Given the description of an element on the screen output the (x, y) to click on. 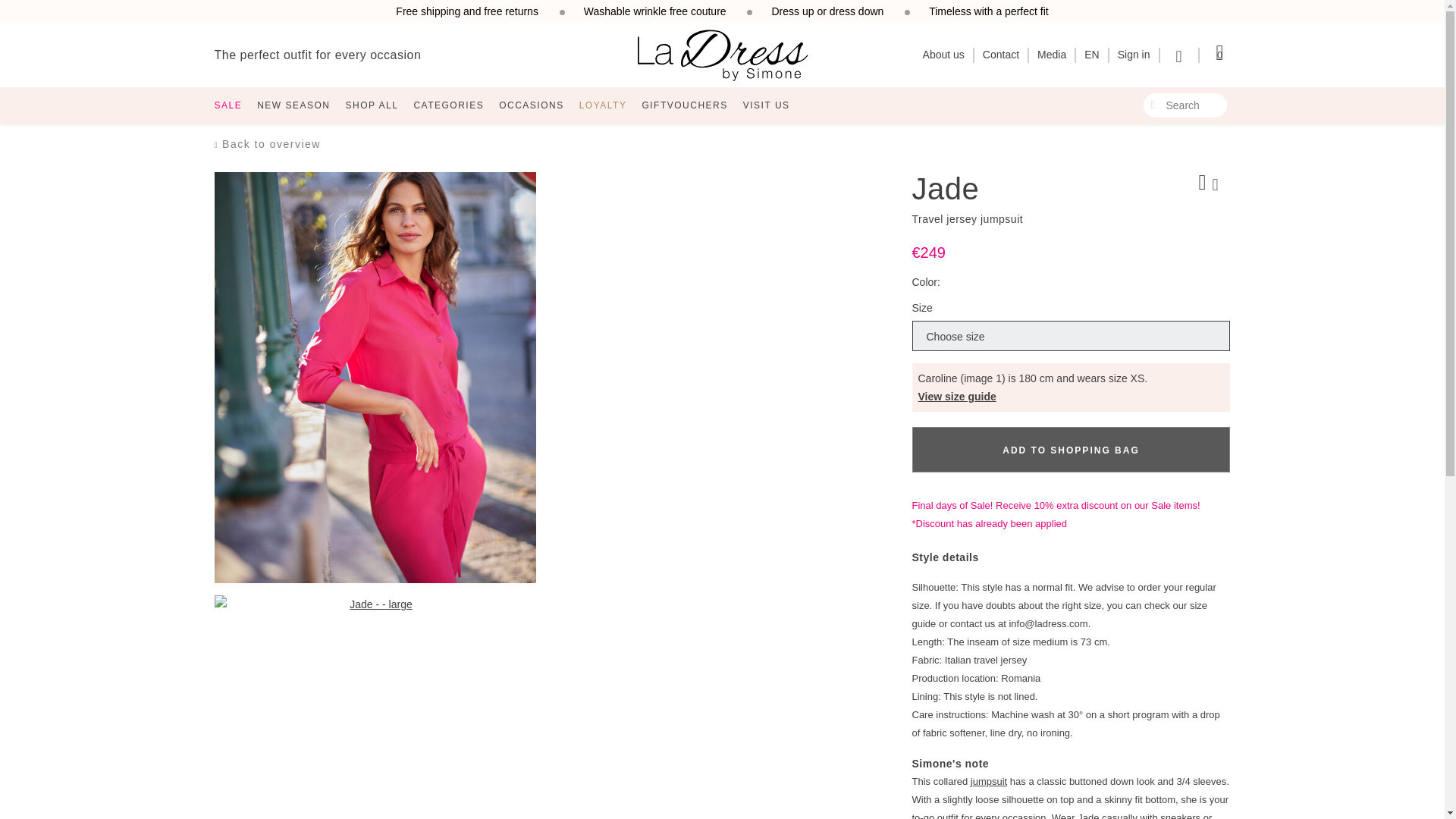
SHOP ALL (371, 104)
OCCASIONS (531, 104)
0 (1219, 52)
View shopping bag (1219, 52)
About us (943, 54)
Media (1050, 54)
CATEGORIES (448, 104)
NEW SEASON (293, 104)
SALE (227, 104)
Contact (1000, 54)
